Given the description of an element on the screen output the (x, y) to click on. 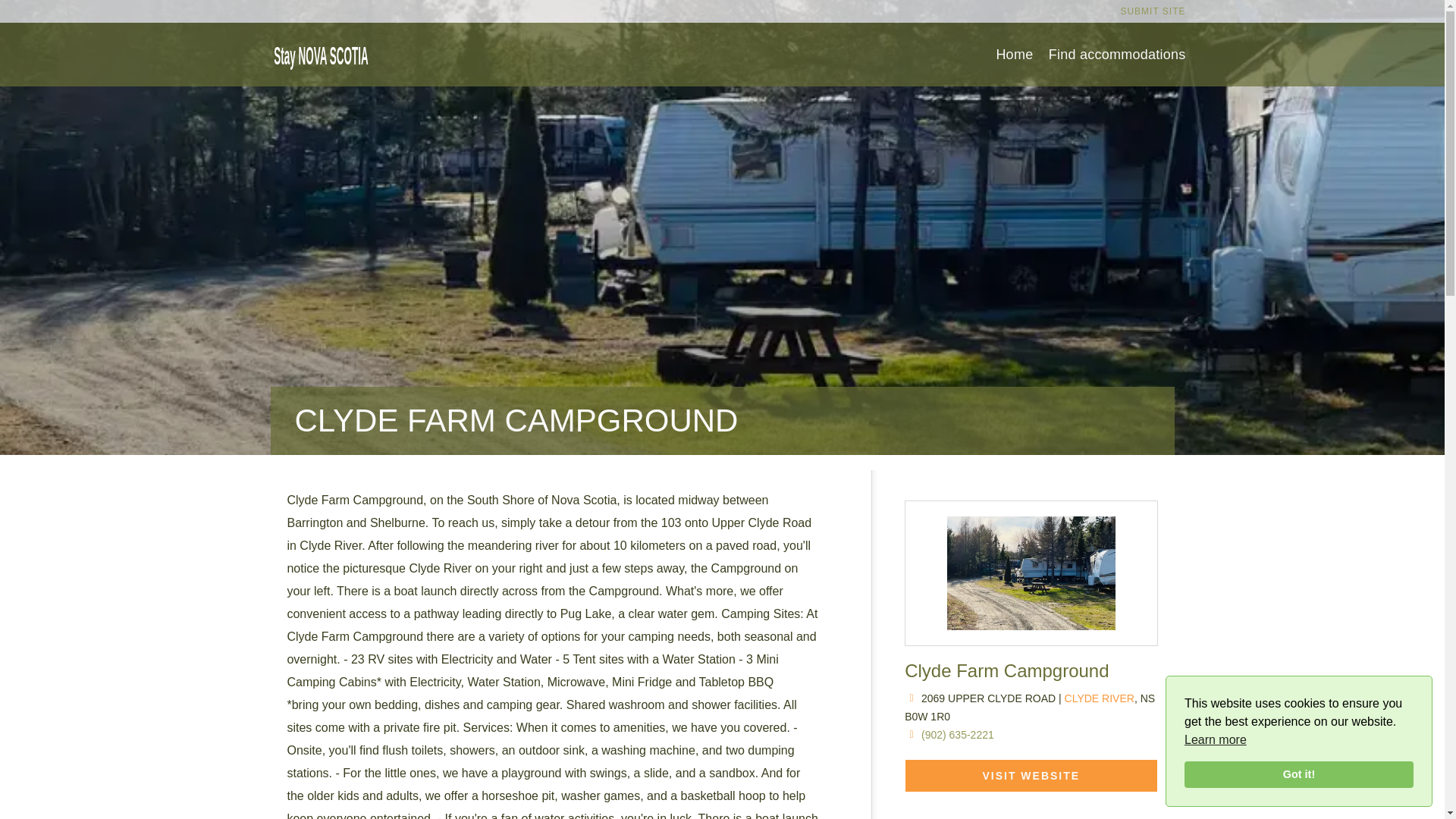
Learn more (1215, 740)
SUBMIT SITE (1152, 10)
CLYDE RIVER (1099, 698)
VISIT WEBSITE (1030, 775)
Find accommodations (1117, 54)
Home (1013, 54)
Got it! (1299, 774)
